Given the description of an element on the screen output the (x, y) to click on. 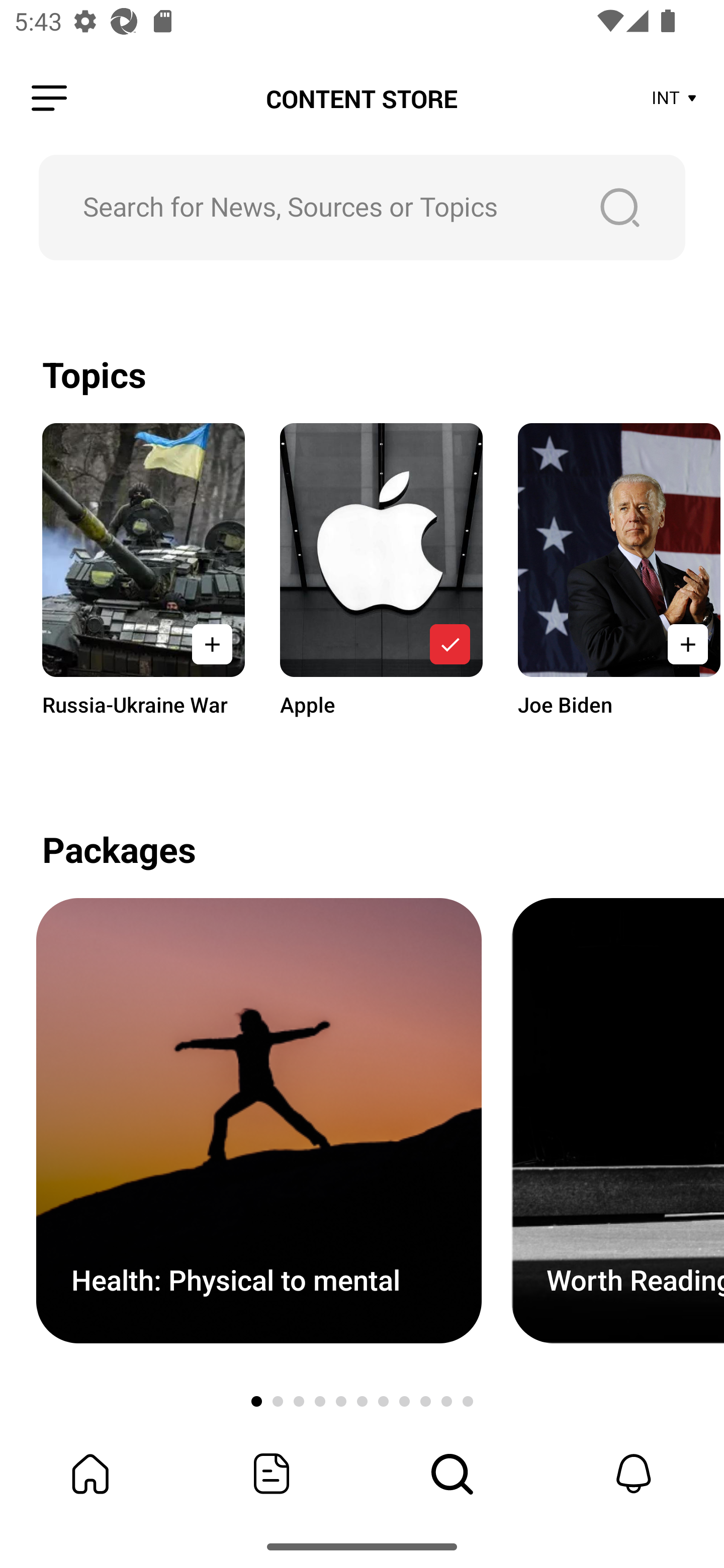
INT Store Area (674, 98)
Leading Icon (49, 98)
Search for News, Sources or Topics Search Button (361, 207)
Add To My Bundle (212, 644)
Add To My Bundle (449, 644)
Add To My Bundle (684, 644)
My Bundle (90, 1473)
Featured (271, 1473)
Notifications (633, 1473)
